Given the description of an element on the screen output the (x, y) to click on. 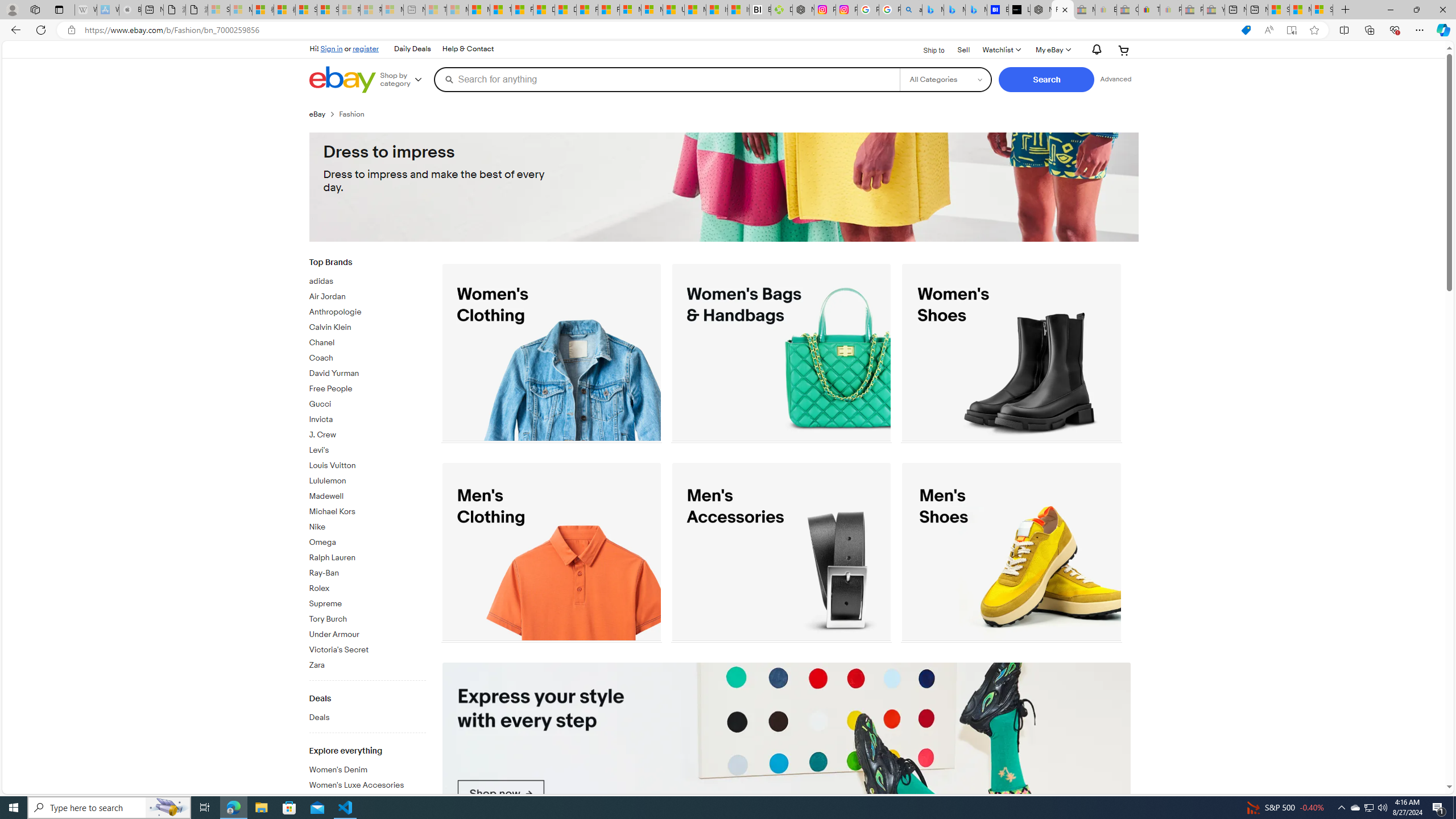
Free People (367, 389)
Supreme (367, 603)
Drinking tea every day is proven to delay biological aging (565, 9)
Ship to (926, 50)
